Given the description of an element on the screen output the (x, y) to click on. 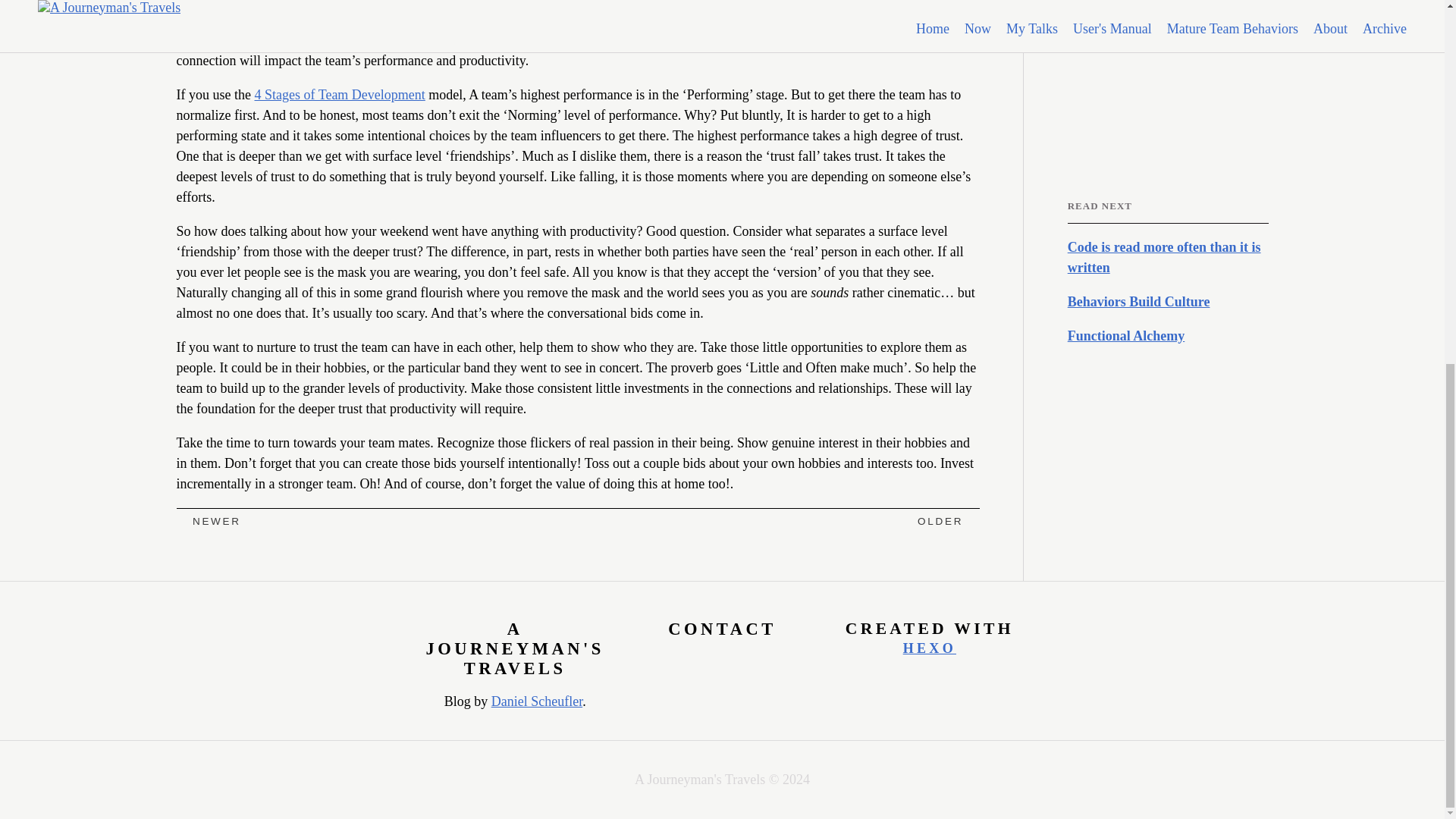
Daniel Scheufler (537, 701)
Behaviors Build Culture (1167, 301)
4 Stages of Team Development (339, 94)
podcast (1167, 55)
rss (1149, 55)
linkedin (1112, 55)
github (694, 661)
linkedin (712, 661)
mail (1075, 55)
NEWER (208, 521)
